Given the description of an element on the screen output the (x, y) to click on. 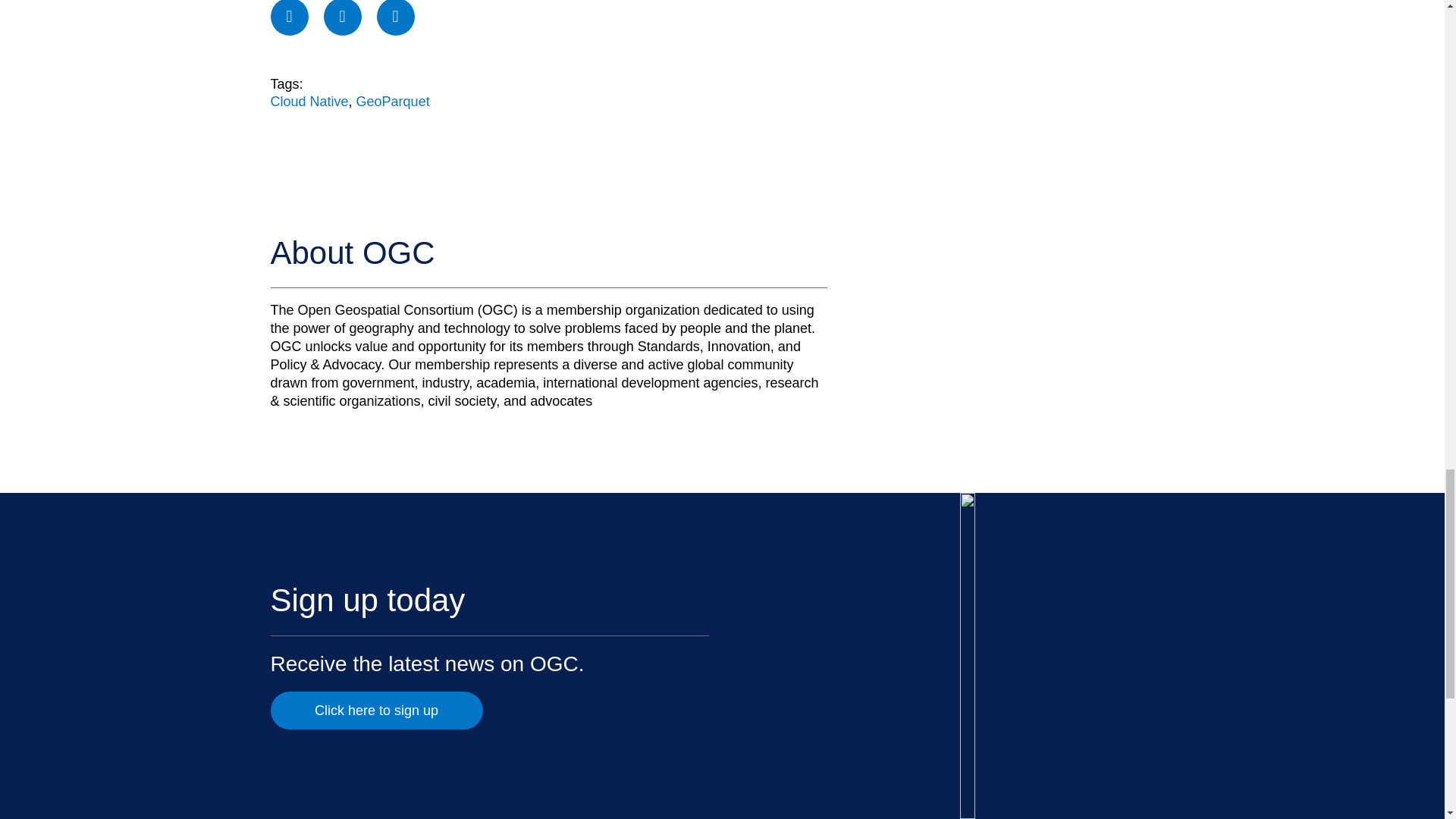
Facebook (288, 18)
Twitter (342, 18)
LinkedIn (395, 18)
